Given the description of an element on the screen output the (x, y) to click on. 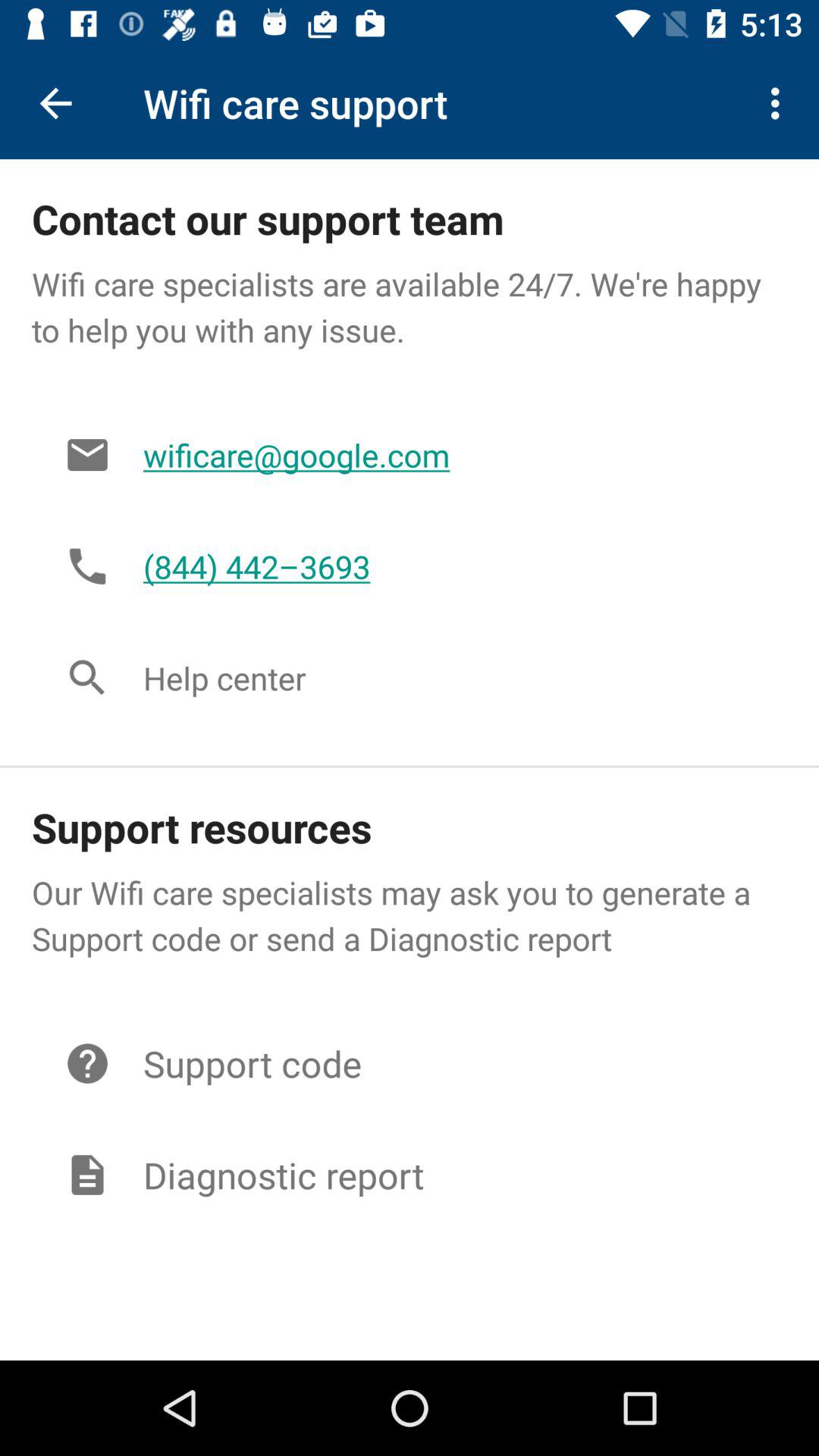
choose the item below the wifi care specialists (449, 454)
